Given the description of an element on the screen output the (x, y) to click on. 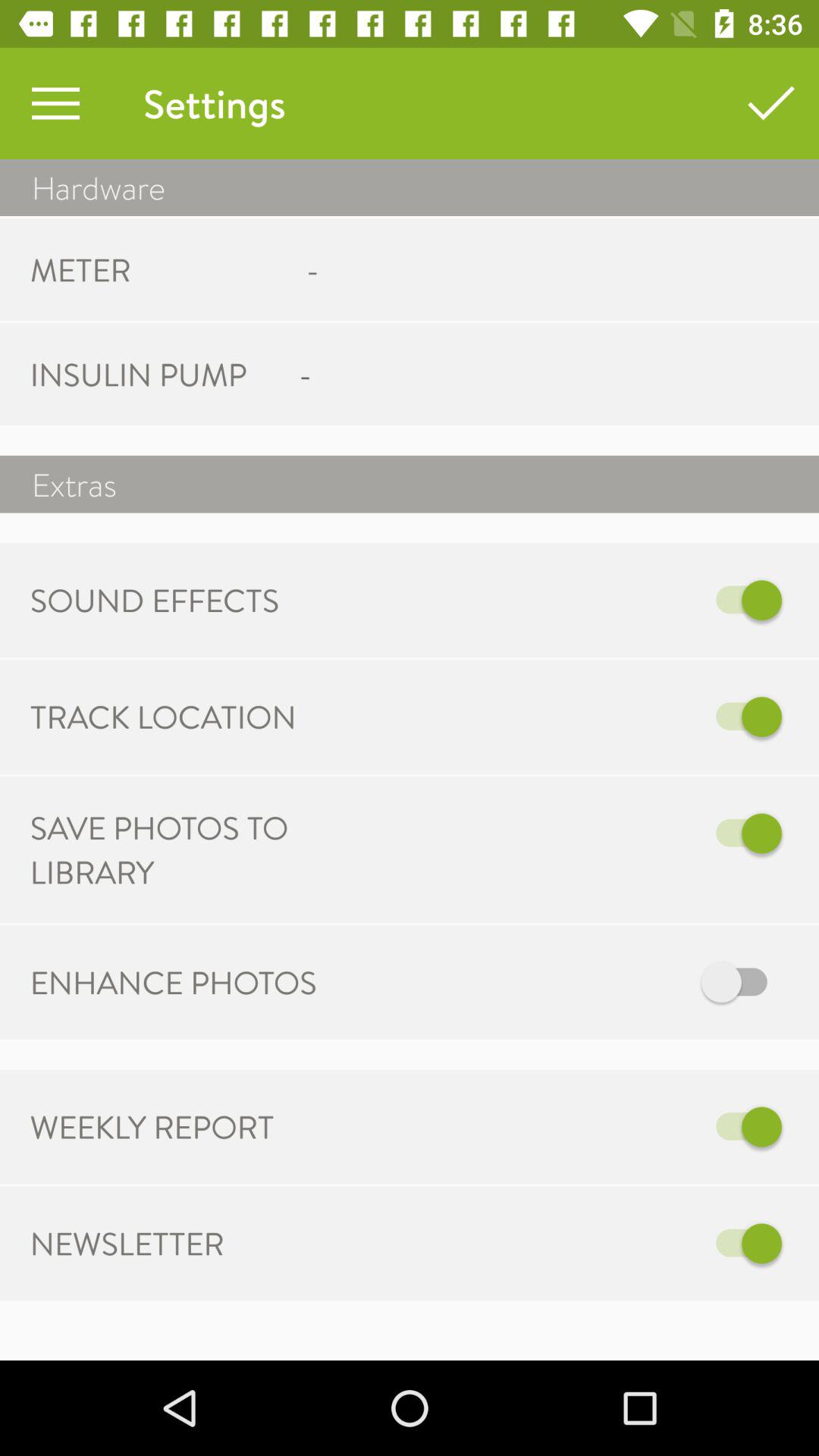
toggle option (566, 982)
